Given the description of an element on the screen output the (x, y) to click on. 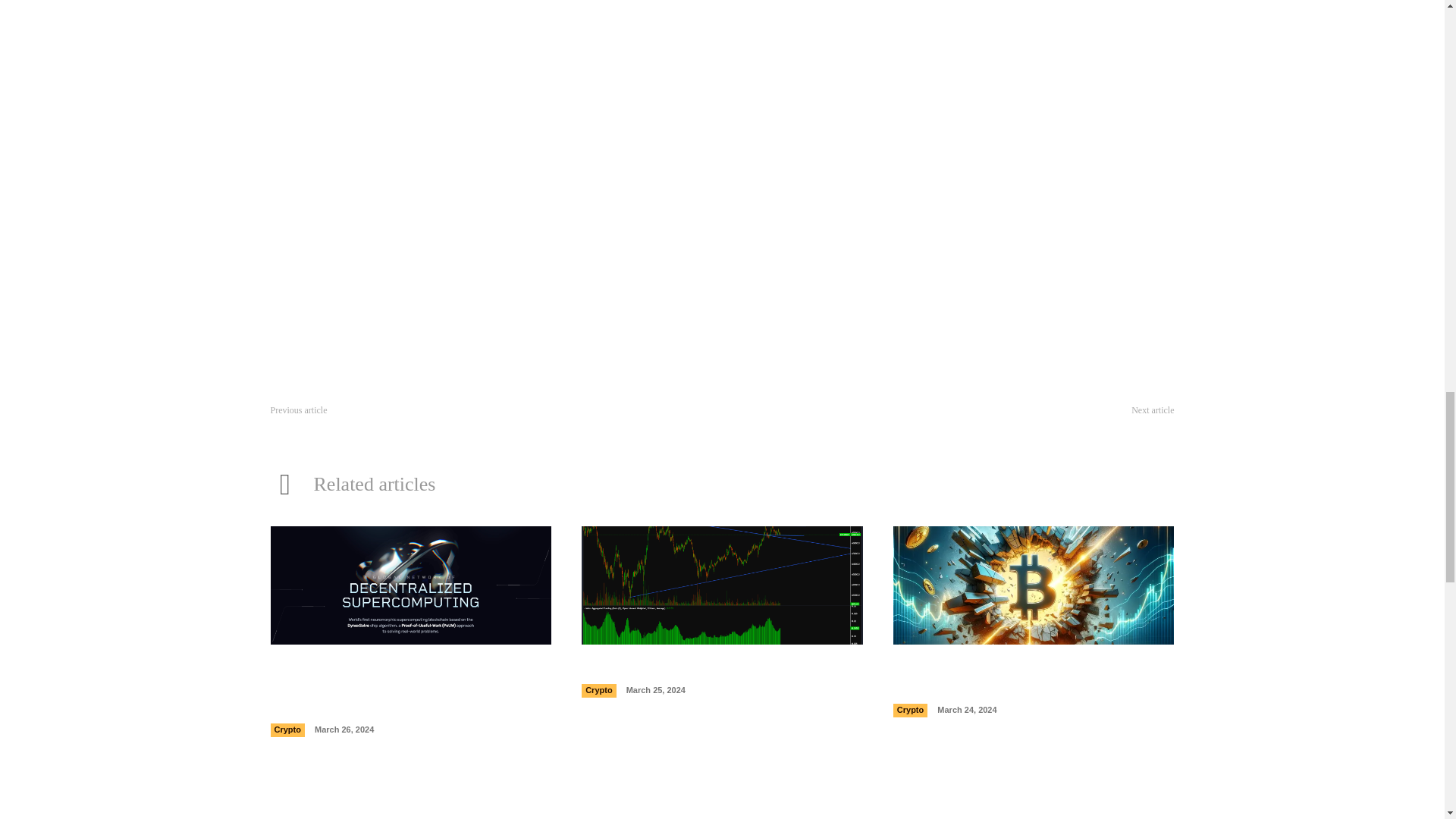
Lucas Peterson (459, 141)
